Given the description of an element on the screen output the (x, y) to click on. 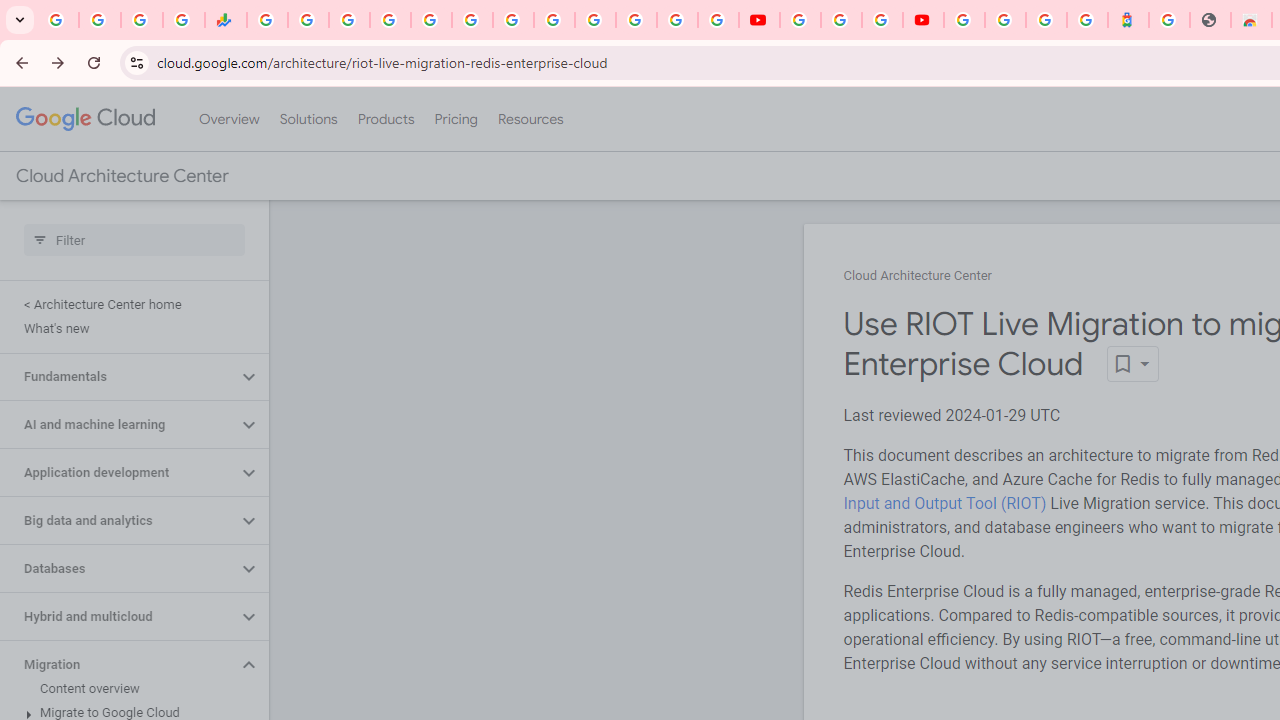
Content overview (130, 688)
YouTube (553, 20)
Cloud Architecture Center (917, 276)
Content Creator Programs & Opportunities - YouTube Creators (923, 20)
Android TV Policies and Guidelines - Transparency Center (512, 20)
Hybrid and multicloud (118, 616)
Create your Google Account (881, 20)
YouTube (799, 20)
